Given the description of an element on the screen output the (x, y) to click on. 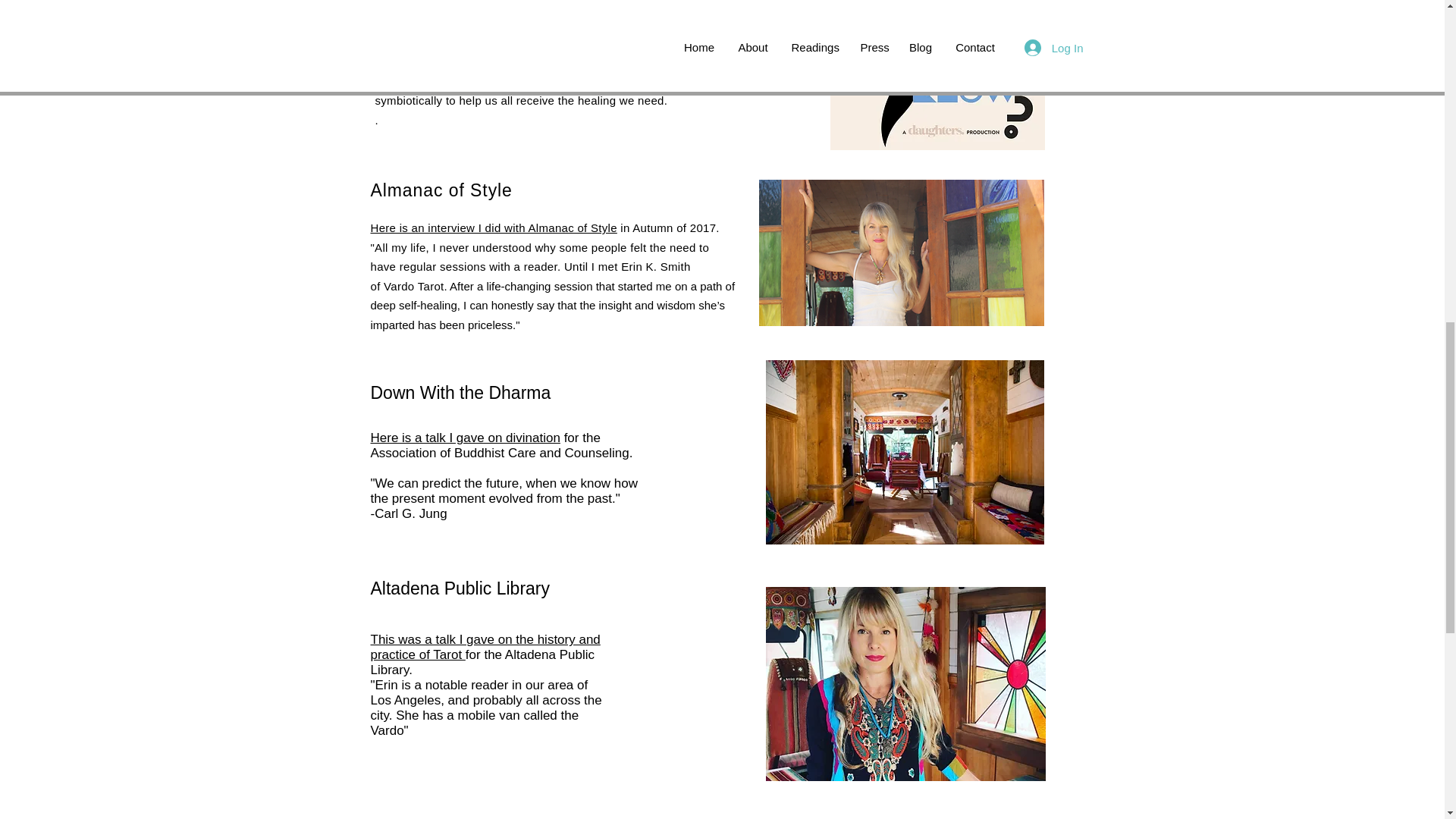
Vardo Tarot (414, 286)
Here is an interview I did with Almanac of Style (492, 227)
Here is a talk I gave on divination (464, 437)
This was a talk I gave on the history and practice of Tarot (484, 646)
